Given the description of an element on the screen output the (x, y) to click on. 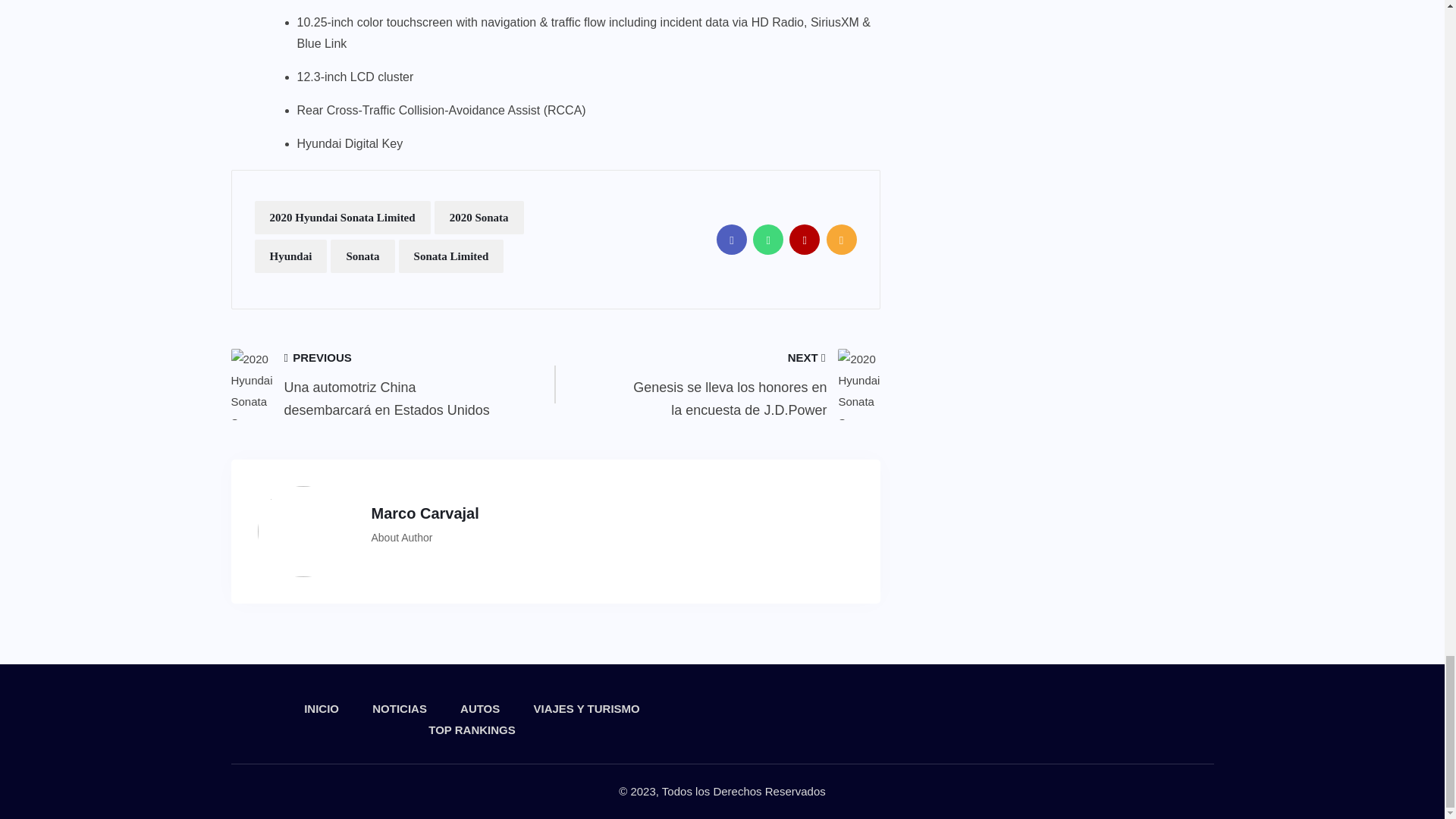
Sonata (362, 255)
2020 Sonata (478, 217)
Hyundai (290, 255)
2020 Hyundai Sonata Limited (342, 217)
Sonata Limited (450, 255)
